Given the description of an element on the screen output the (x, y) to click on. 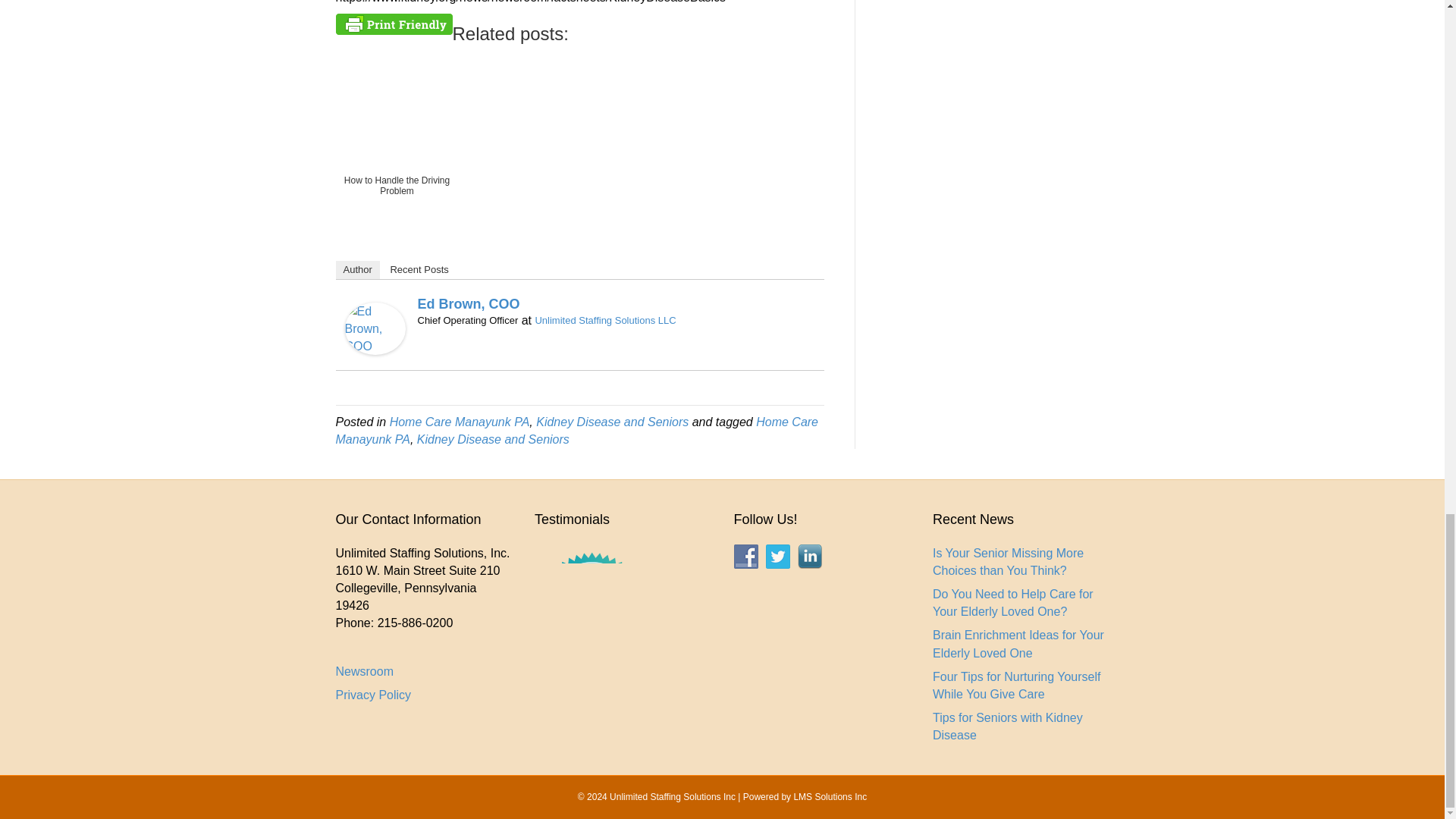
Follow Us on Twitter (777, 556)
Follow Us on LinkedIn (809, 556)
Follow Us on Facebook (745, 556)
Recent Posts (418, 270)
Unlimited Staffing Solutions LLC (604, 319)
Author (356, 270)
Ed Brown, COO (373, 327)
Ed Brown, COO (467, 304)
